Given the description of an element on the screen output the (x, y) to click on. 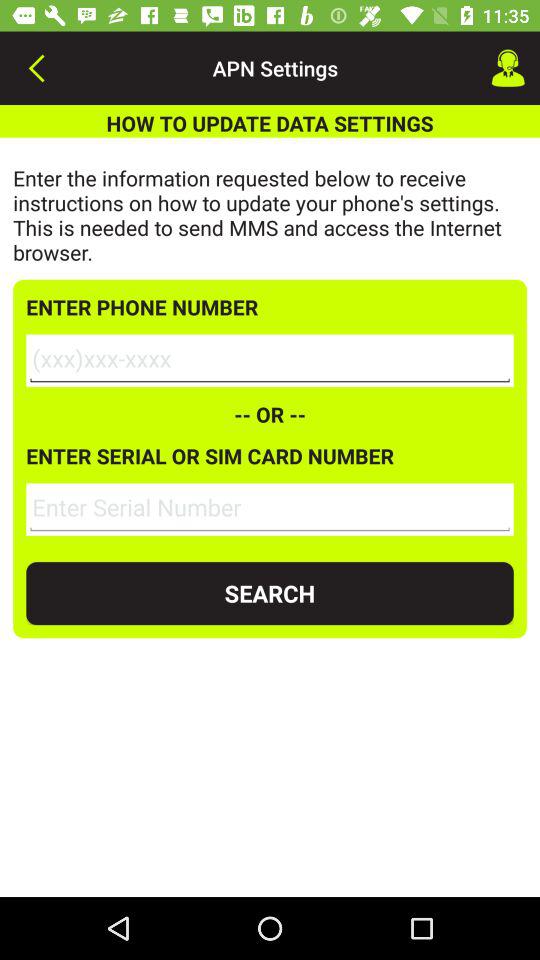
select icon to the right of the apn settings icon (508, 67)
